Given the description of an element on the screen output the (x, y) to click on. 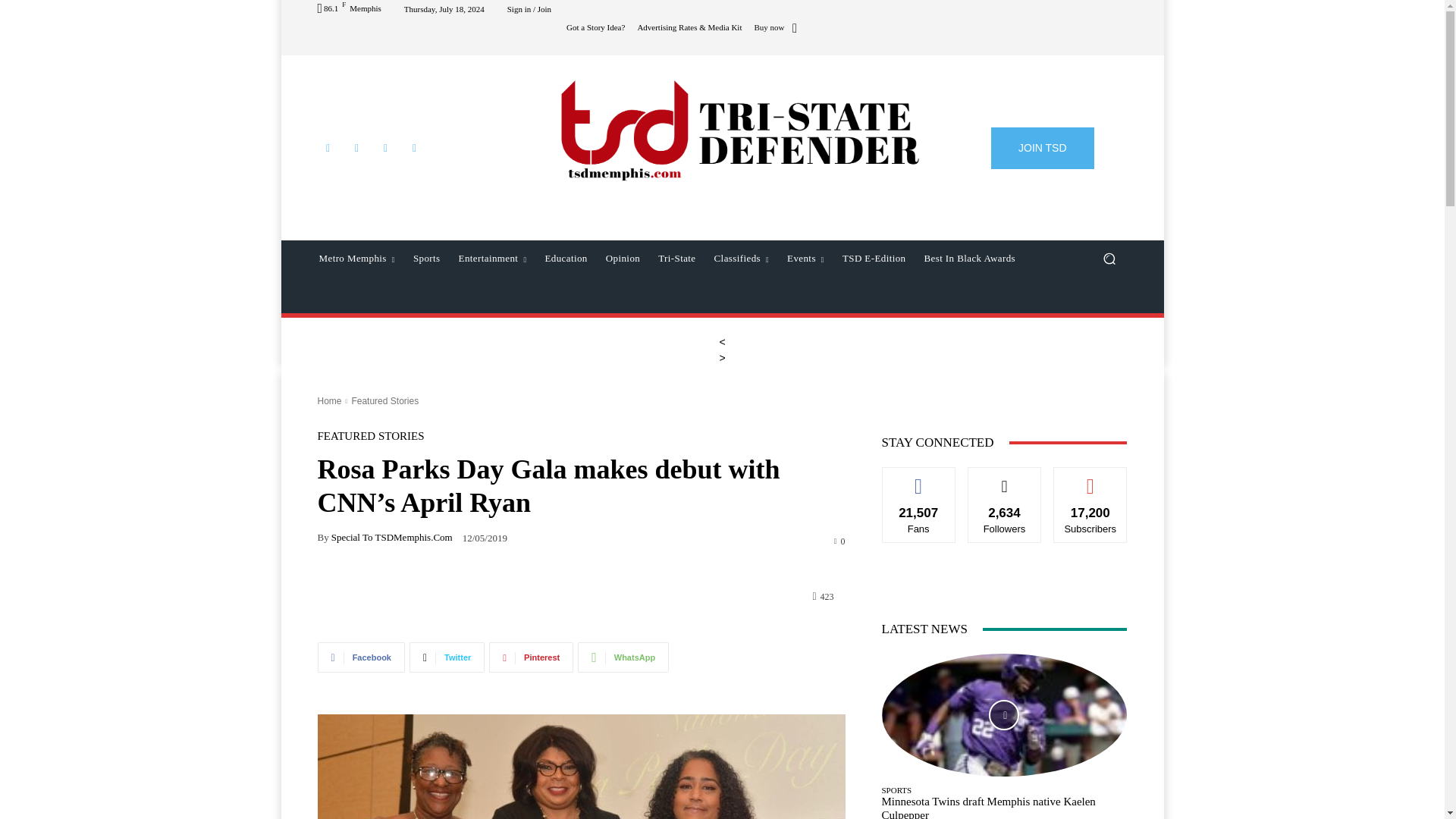
Youtube (414, 147)
Join TSD (1042, 147)
View all posts in Featured Stories (384, 400)
Got a Story Idea? (595, 27)
The Tr-State Defender (738, 129)
Metro Memphis (355, 258)
Twitter (385, 147)
Facebook (327, 147)
Entertainment (492, 258)
JOIN TSD (1042, 147)
TSD E-Edition (873, 258)
Education (565, 258)
Opinion (622, 258)
Sports (426, 258)
Best In Black Awards (969, 258)
